Given the description of an element on the screen output the (x, y) to click on. 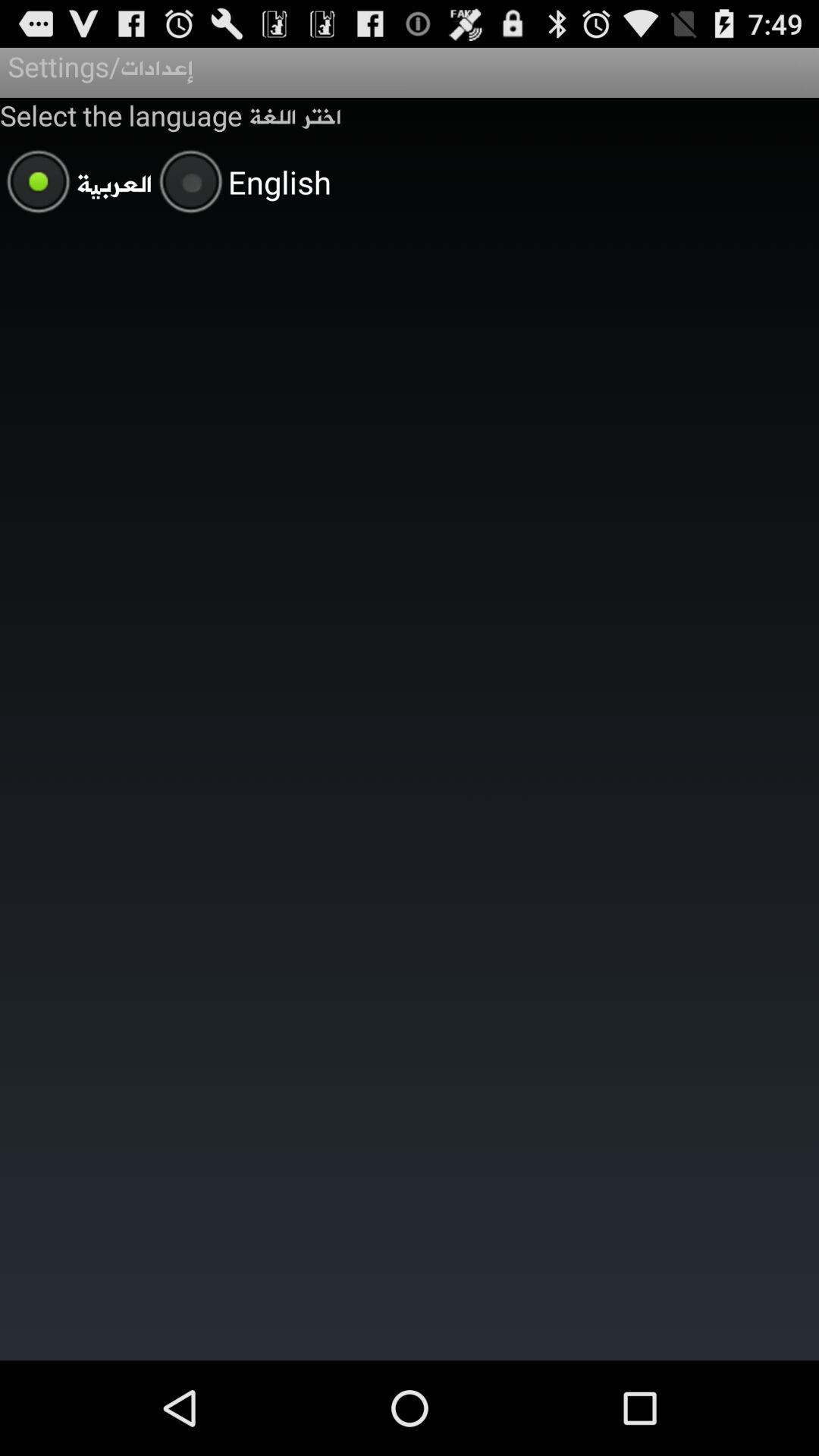
flip to the english radio button (241, 184)
